Given the description of an element on the screen output the (x, y) to click on. 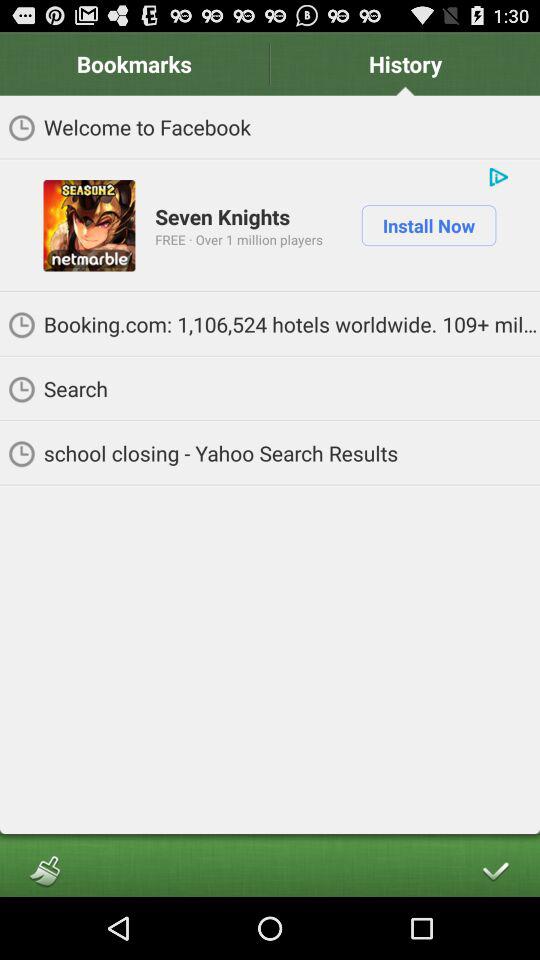
turn on the item above booking com 1 (428, 225)
